Given the description of an element on the screen output the (x, y) to click on. 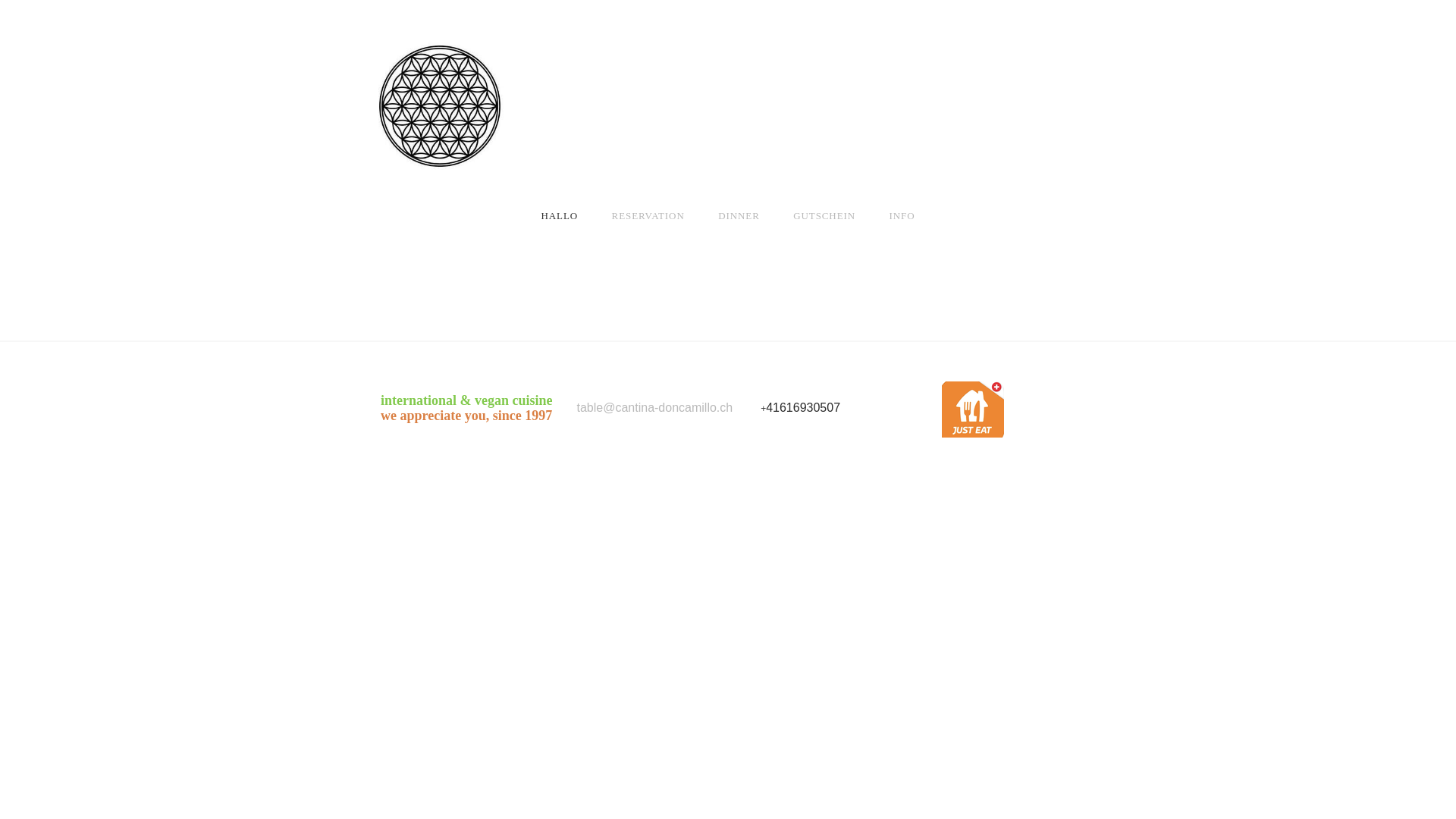
HALLO Element type: text (559, 215)
table@cantina-doncamillo.ch Element type: text (654, 408)
GUTSCHEIN Element type: text (823, 215)
RESERVATION Element type: text (648, 215)
INFO Element type: text (902, 215)
DINNER Element type: text (738, 215)
41616930507 Element type: text (802, 408)
